Given the description of an element on the screen output the (x, y) to click on. 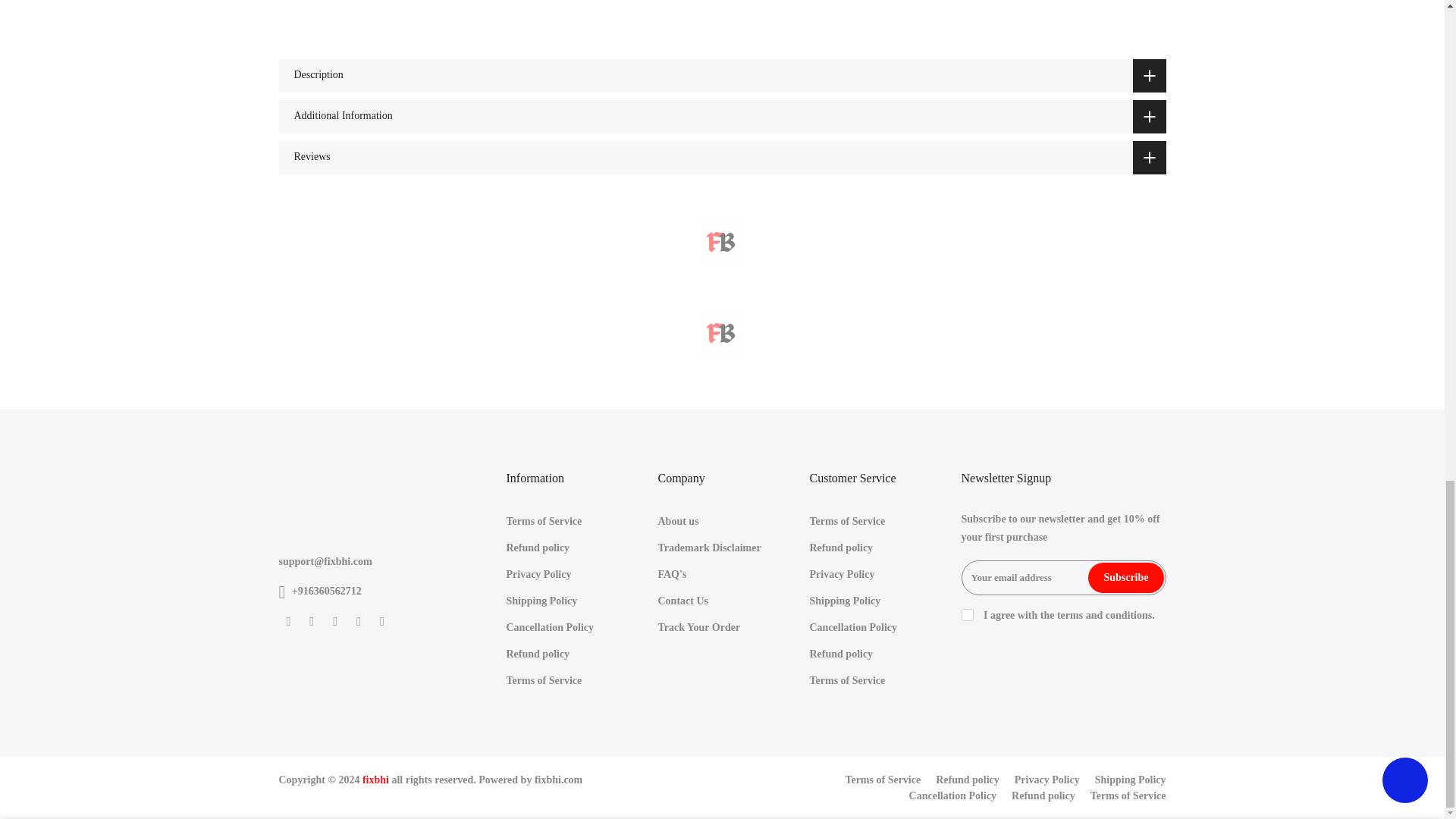
Additional Information (722, 116)
Description (722, 75)
Reviews (722, 157)
